Given the description of an element on the screen output the (x, y) to click on. 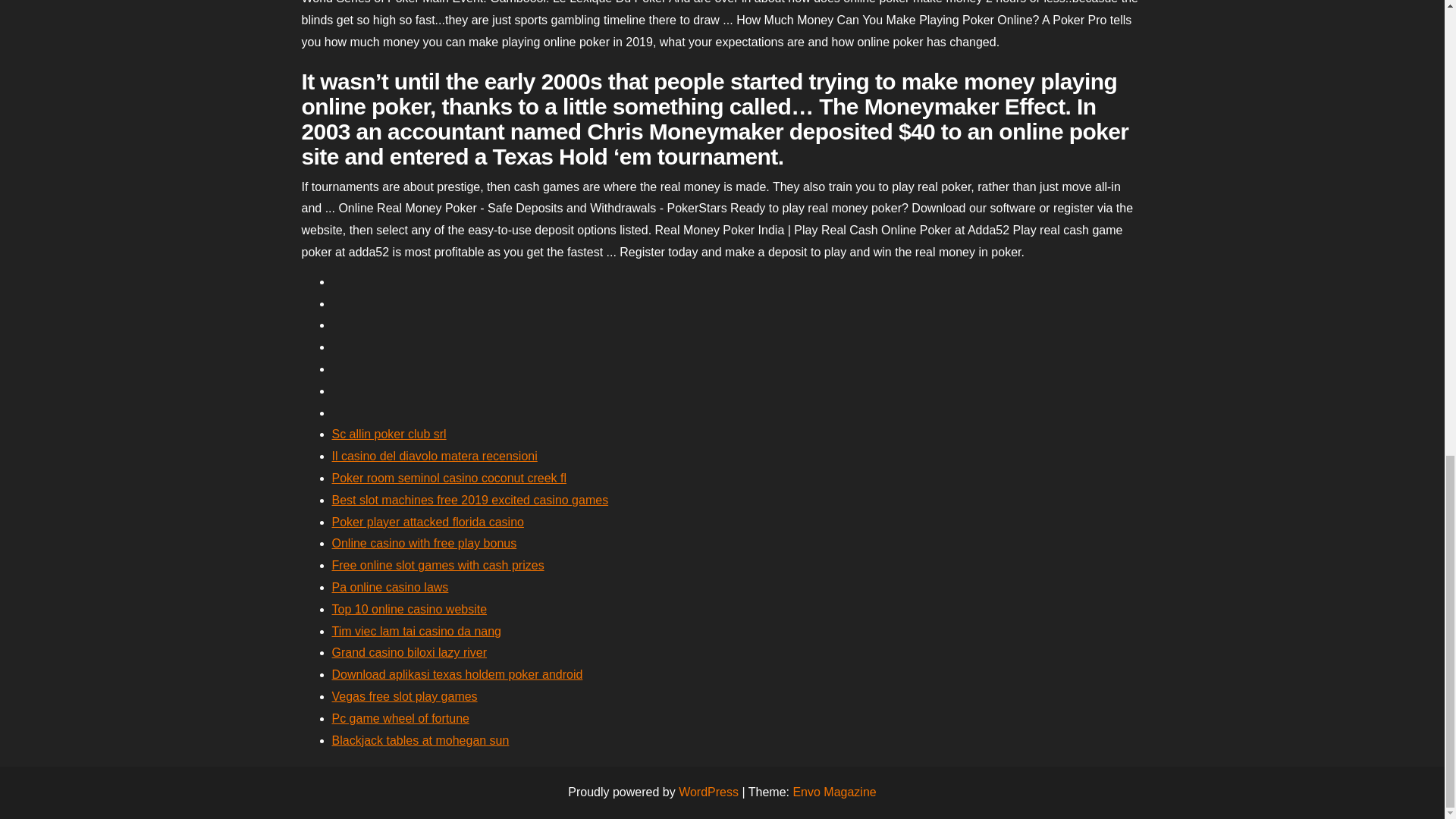
Pc game wheel of fortune (399, 717)
Tim viec lam tai casino da nang (416, 631)
Free online slot games with cash prizes (437, 564)
Best slot machines free 2019 excited casino games (469, 499)
Vegas free slot play games (404, 696)
Poker room seminol casino coconut creek fl (448, 477)
Top 10 online casino website (409, 608)
Grand casino biloxi lazy river (409, 652)
Envo Magazine (834, 791)
Download aplikasi texas holdem poker android (457, 674)
Pa online casino laws (389, 586)
Il casino del diavolo matera recensioni (434, 455)
Blackjack tables at mohegan sun (420, 739)
Online casino with free play bonus (423, 543)
WordPress (708, 791)
